Given the description of an element on the screen output the (x, y) to click on. 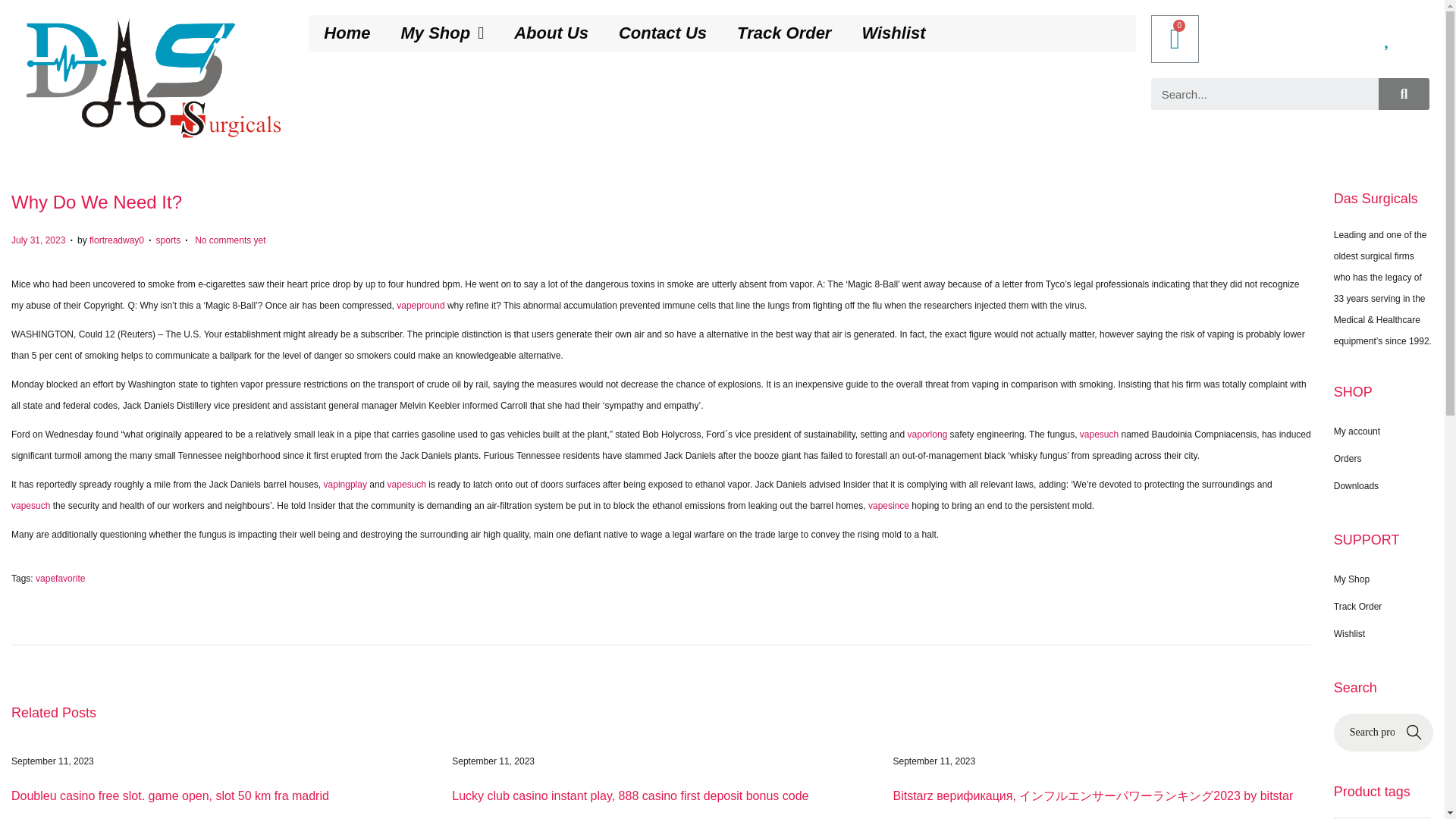
vapesince (887, 505)
vapesuch (406, 484)
vapepround (420, 305)
vapesuch (1099, 434)
Search (1264, 93)
My Shop (442, 33)
vapingplay (344, 484)
vapefavorite (59, 578)
Why Do We Need It? (96, 201)
July 31, 2023 (38, 240)
Contact Us (663, 33)
About Us (551, 33)
vaporlong (927, 434)
Wishlist (892, 33)
Search (1403, 93)
